Given the description of an element on the screen output the (x, y) to click on. 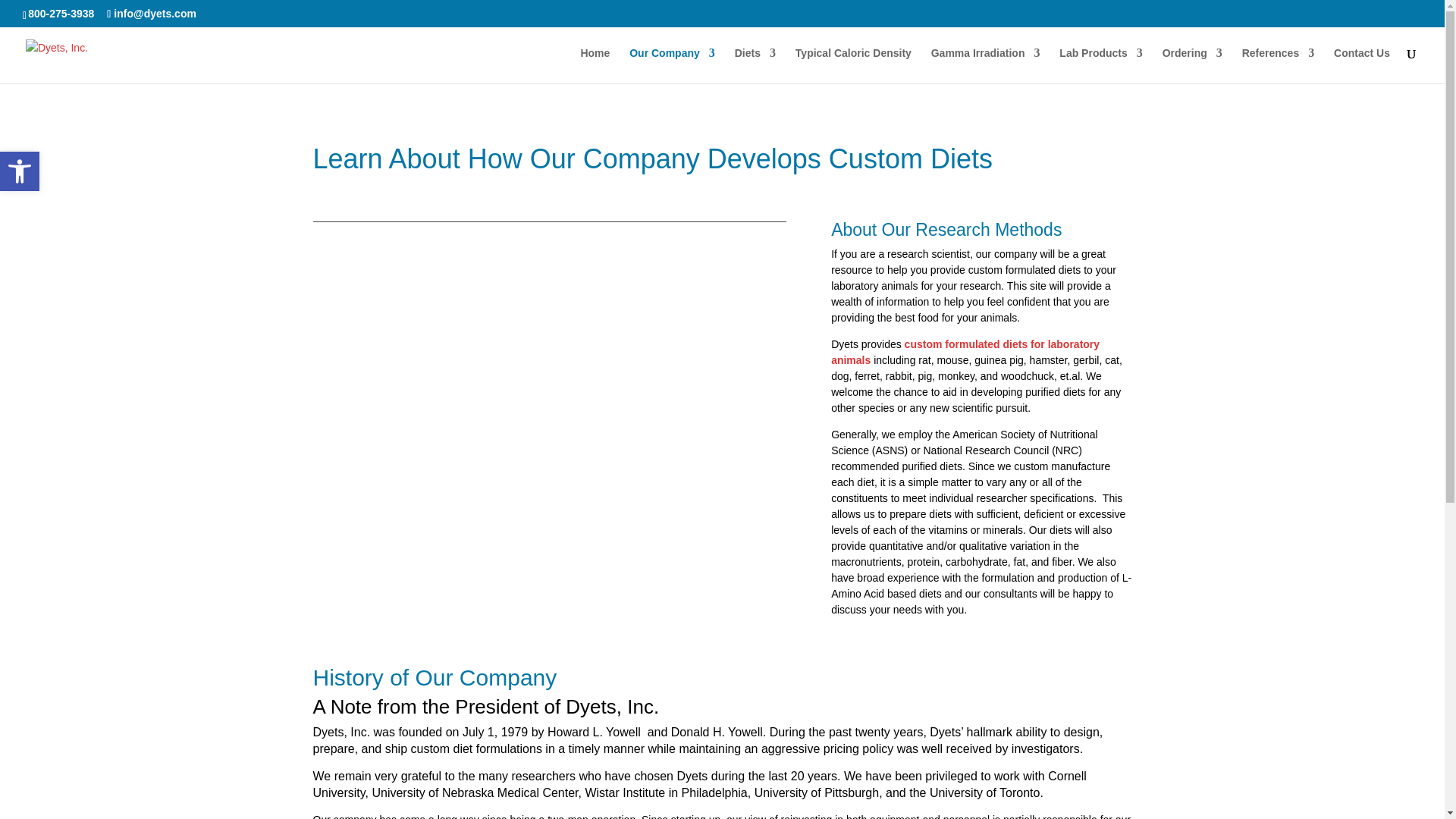
Lab Products (1100, 65)
Our Company (671, 65)
Typical Caloric Density (852, 65)
Diets (755, 65)
Contact Us (1361, 65)
Ordering (1192, 65)
Accessibility Tools (19, 170)
References (1277, 65)
Home (594, 65)
Gamma Irradiation (986, 65)
